Given the description of an element on the screen output the (x, y) to click on. 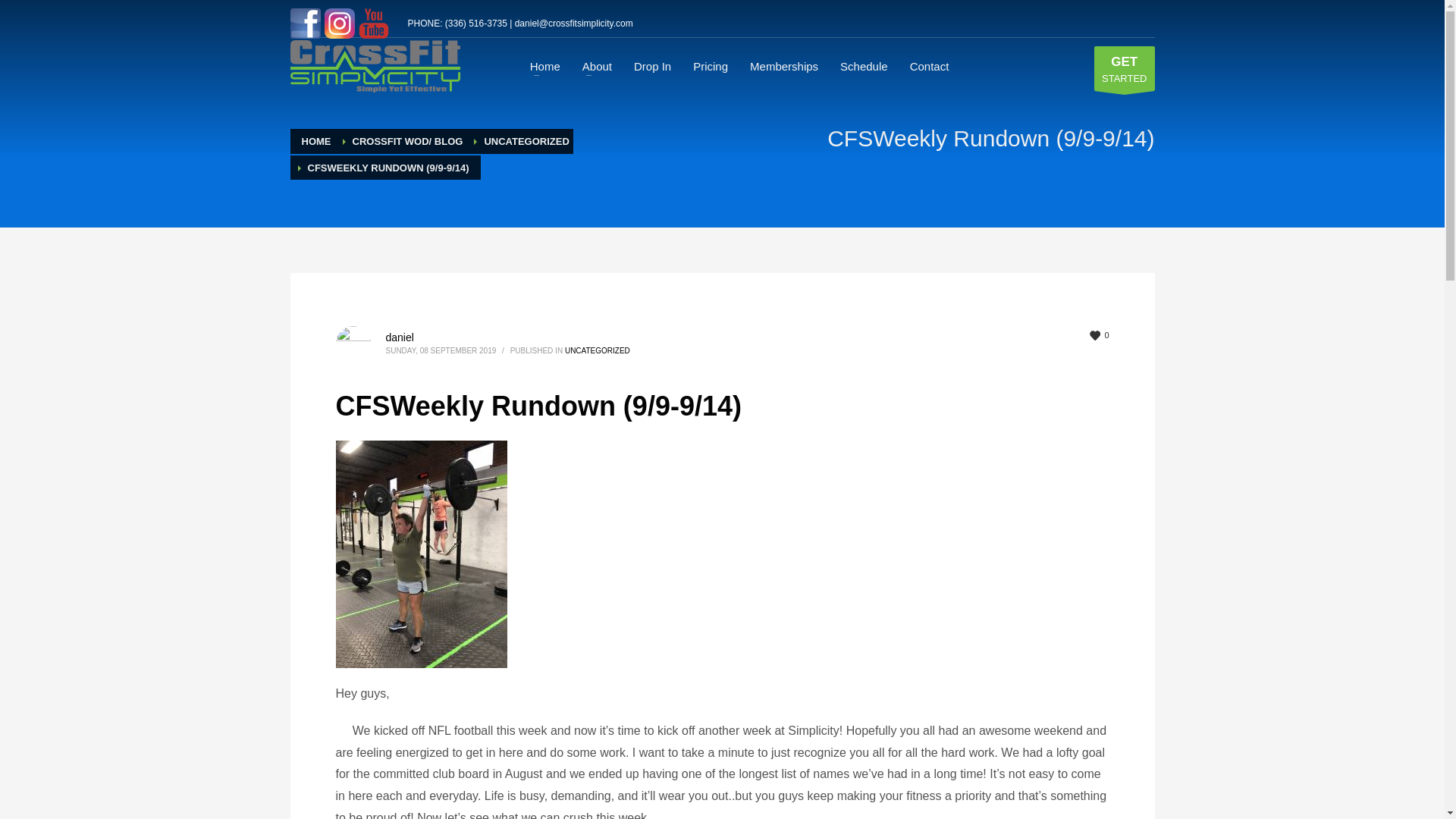
youtube (374, 22)
Drop In (651, 66)
Contact (929, 66)
About (597, 66)
UNCATEGORIZED (526, 141)
crossfit (374, 66)
Schedule (863, 66)
Facebook (306, 22)
HOME (316, 141)
